Given the description of an element on the screen output the (x, y) to click on. 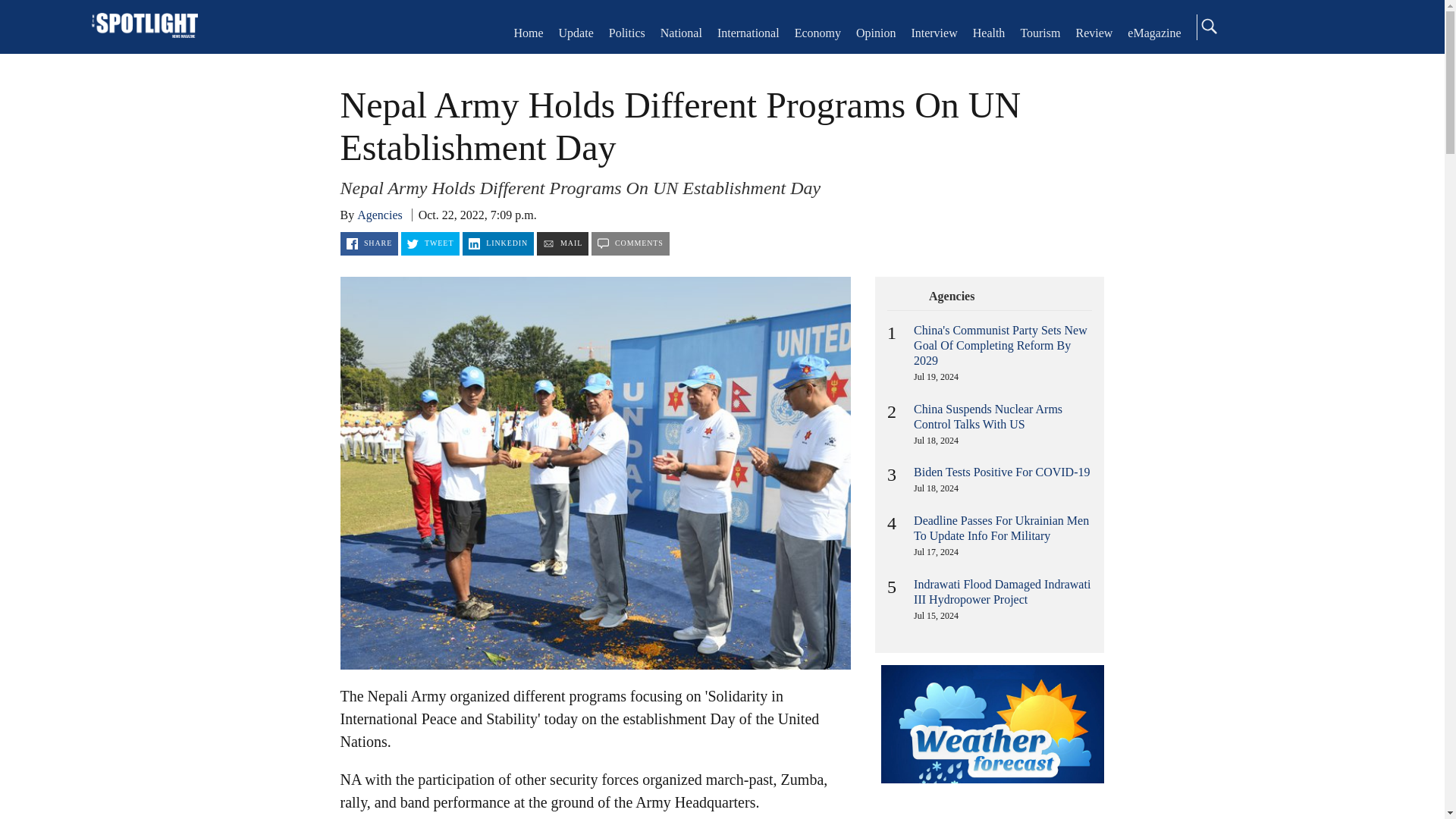
SHARE (368, 243)
Home (528, 32)
Biden Tests Positive For COVID-19 (1001, 472)
Comments (630, 243)
Home (144, 26)
Indrawati Flood Damaged Indrawati III Hydropower Project (1002, 592)
Tourism (1039, 32)
Interview (933, 32)
International (747, 32)
eMagazine (1153, 32)
Economy (817, 32)
Search (1208, 26)
Politics (626, 32)
